Given the description of an element on the screen output the (x, y) to click on. 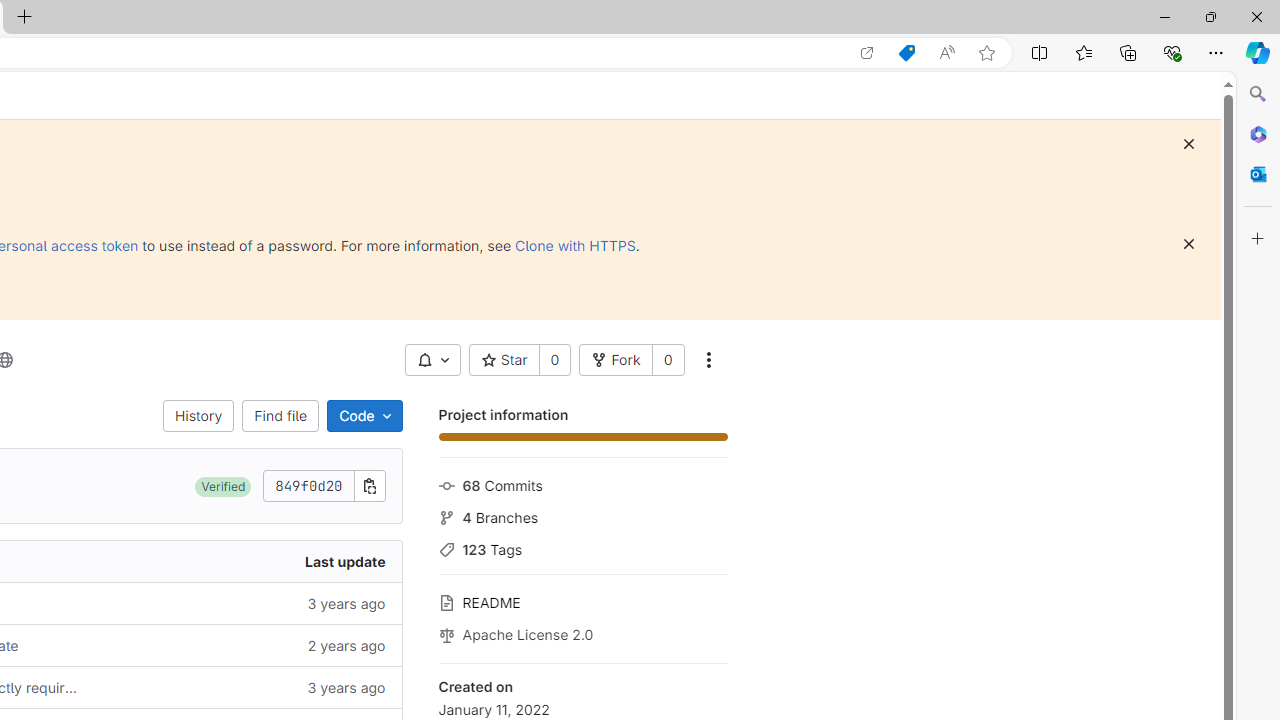
Class: s16 gl-icon gl-button-icon  (1188, 243)
4 Branches (582, 515)
Code (364, 416)
68 Commits (582, 484)
 Star (504, 359)
README (582, 600)
Verified (223, 485)
History (198, 416)
Dismiss (1188, 243)
Clone with HTTPS (575, 245)
123 Tags (582, 548)
